Given the description of an element on the screen output the (x, y) to click on. 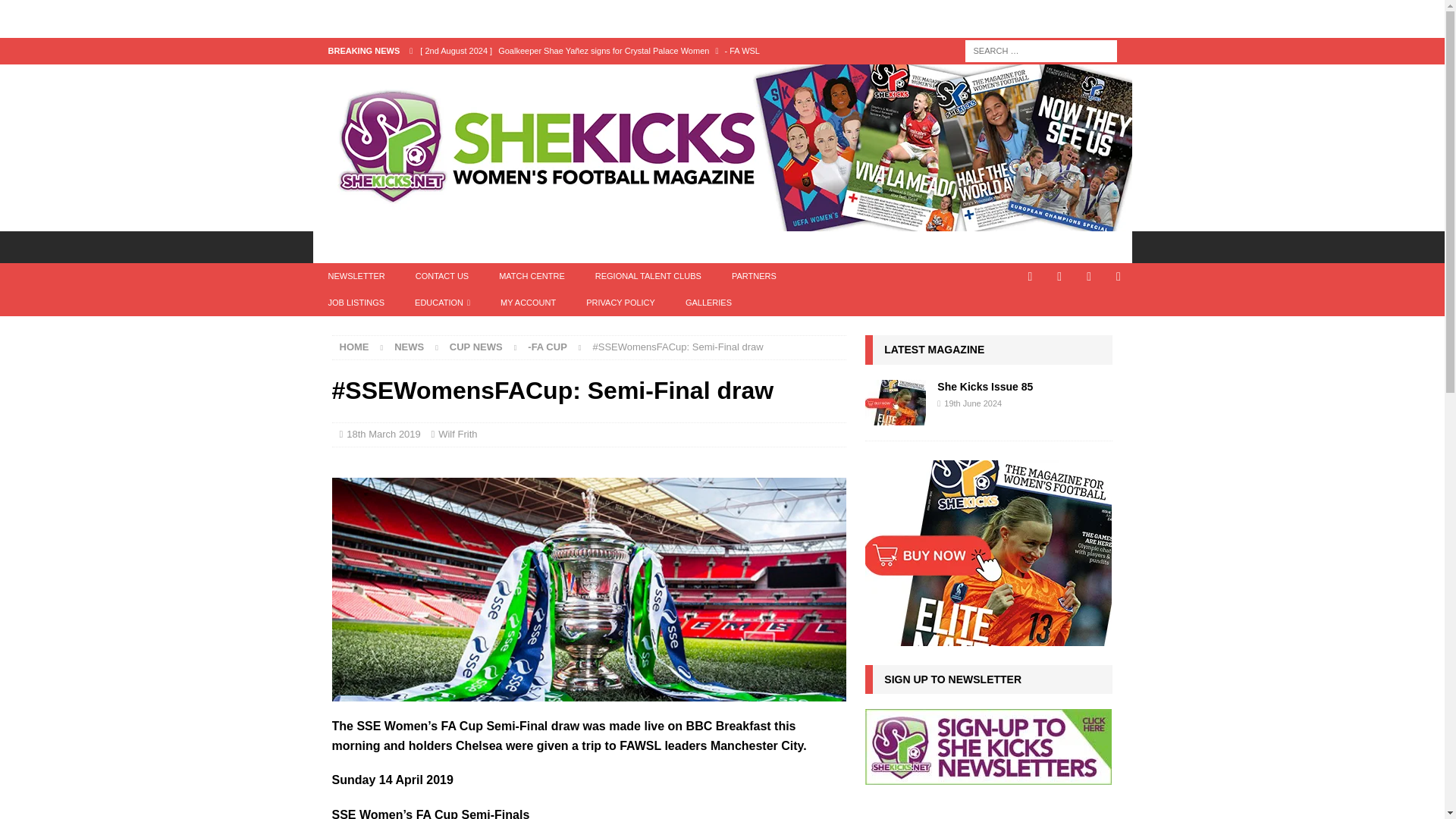
BLOGS (472, 246)
MATCH CENTRE (531, 275)
SHEKICKS MAGAZINE (579, 246)
PRIVACY POLICY (619, 302)
CONTACT US (442, 275)
EDUCATION (441, 302)
Manchester City Women sign Japan international Aoba Fujino (627, 76)
SHOP (793, 246)
NEWS (408, 346)
SheKicks (722, 223)
JOB LISTINGS (355, 302)
-FA Cup (547, 346)
NEWS (406, 246)
MY ACCOUNT (527, 302)
CUP NEWS (475, 346)
